Given the description of an element on the screen output the (x, y) to click on. 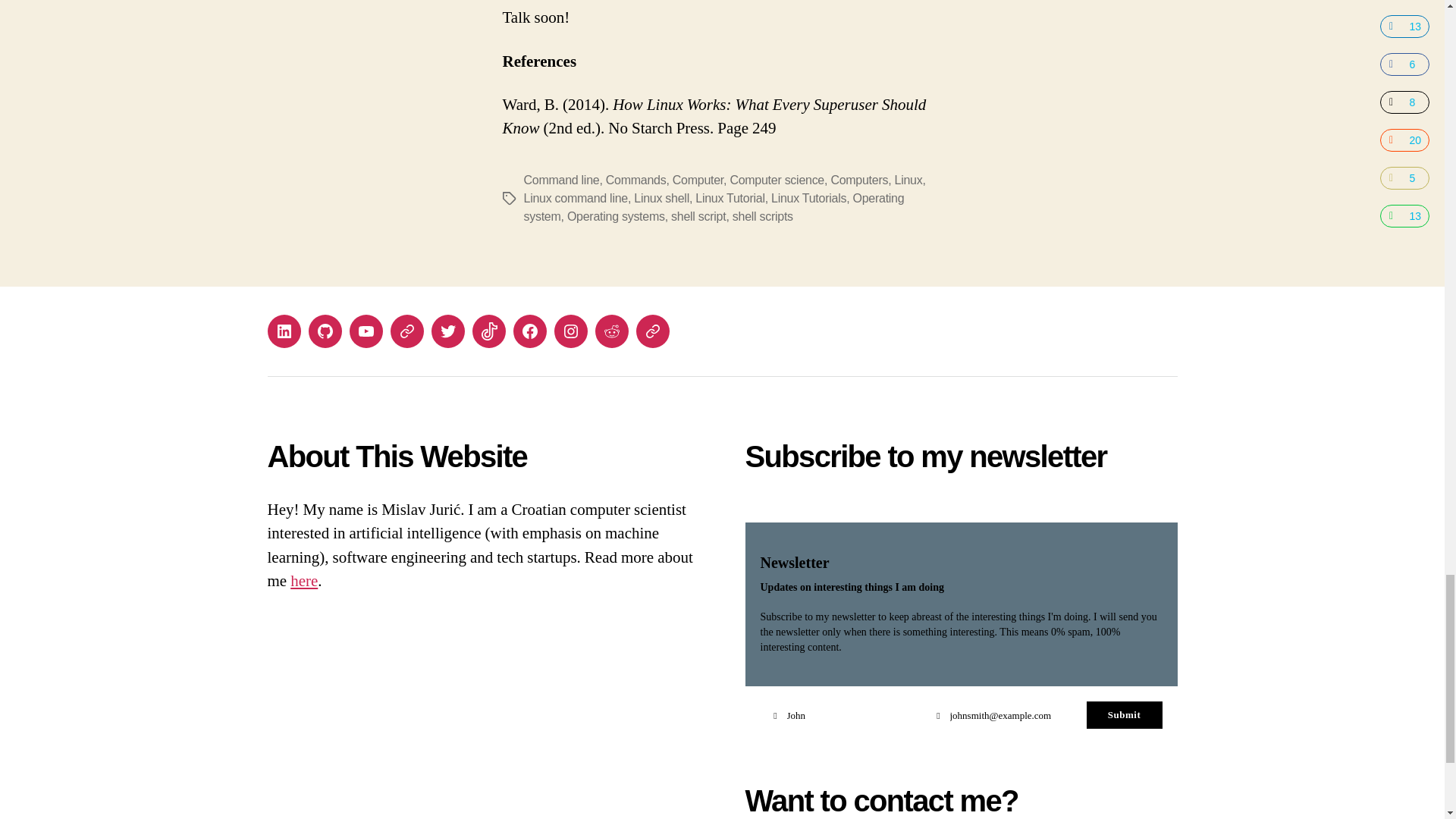
Linux Tutorial Series - 178 - What are shell scripts? (722, 18)
